Given the description of an element on the screen output the (x, y) to click on. 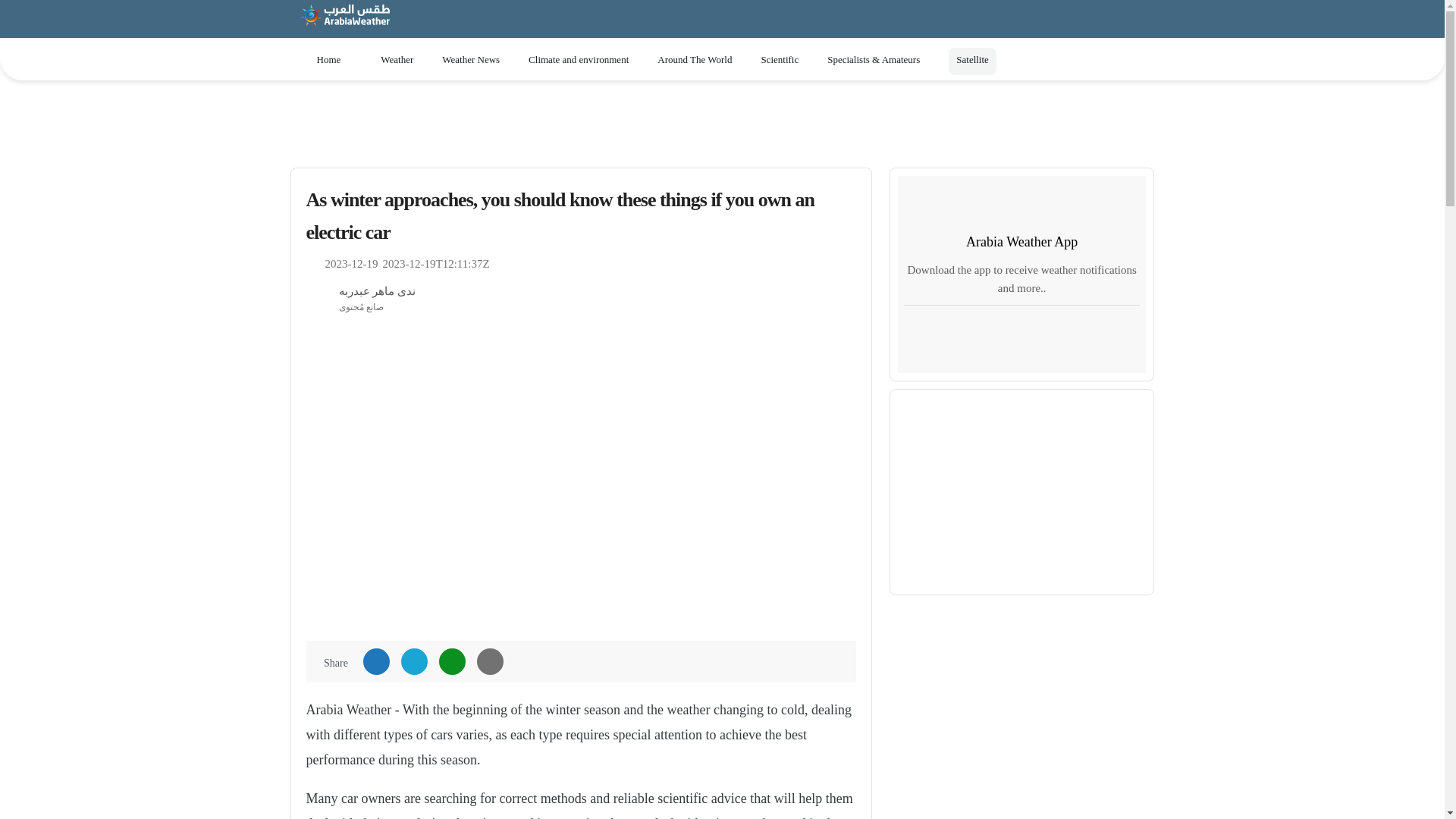
Weather News (477, 59)
Weather (404, 59)
Scientific (786, 59)
Climate and environment (585, 59)
Weather News (477, 59)
Home (327, 59)
Home (327, 59)
Around The World (701, 59)
Weather (404, 59)
ArabiaWeather (343, 21)
